Given the description of an element on the screen output the (x, y) to click on. 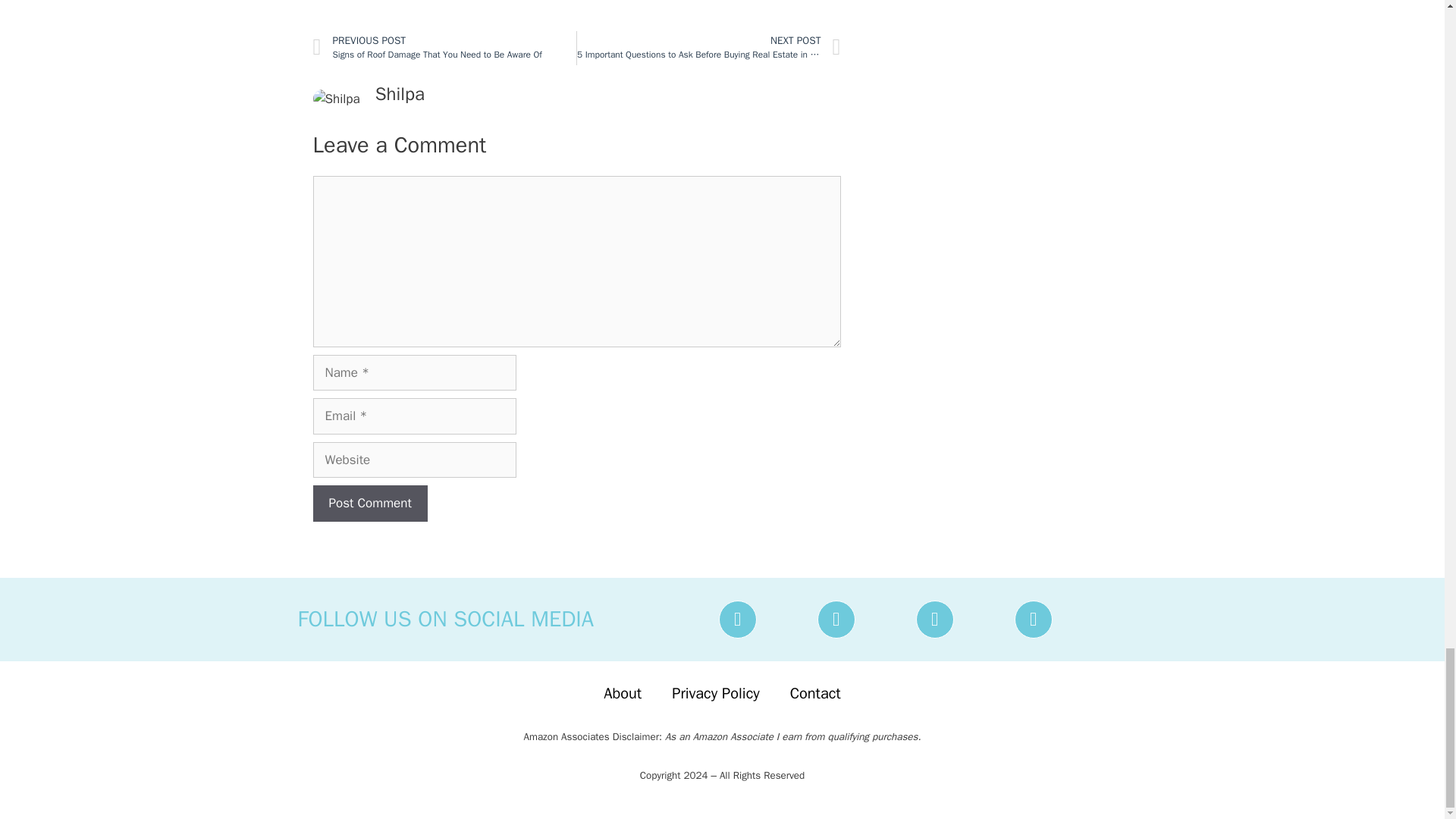
Post Comment (369, 503)
Post Comment (369, 503)
